Given the description of an element on the screen output the (x, y) to click on. 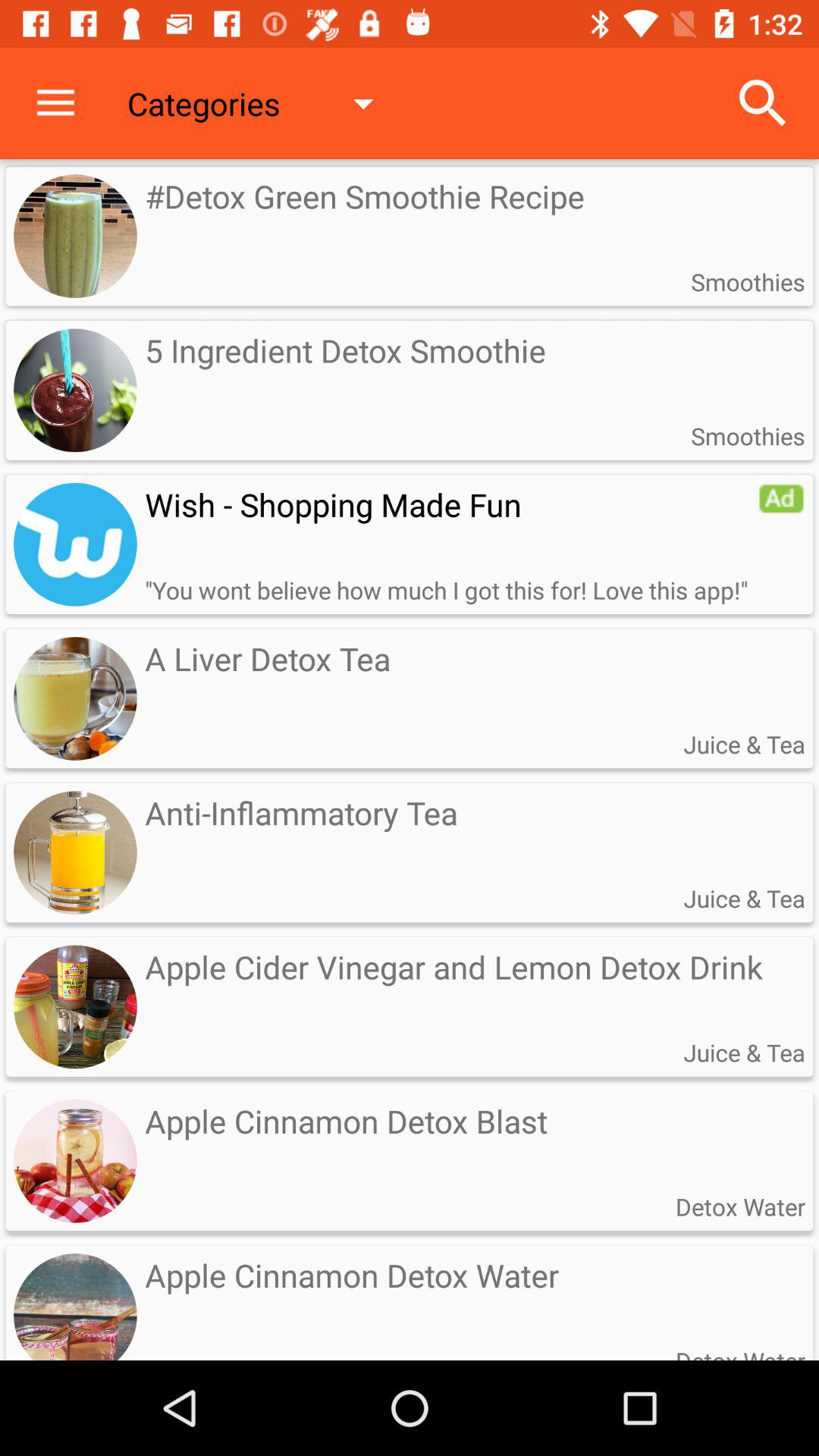
this is an advertisement (781, 498)
